Given the description of an element on the screen output the (x, y) to click on. 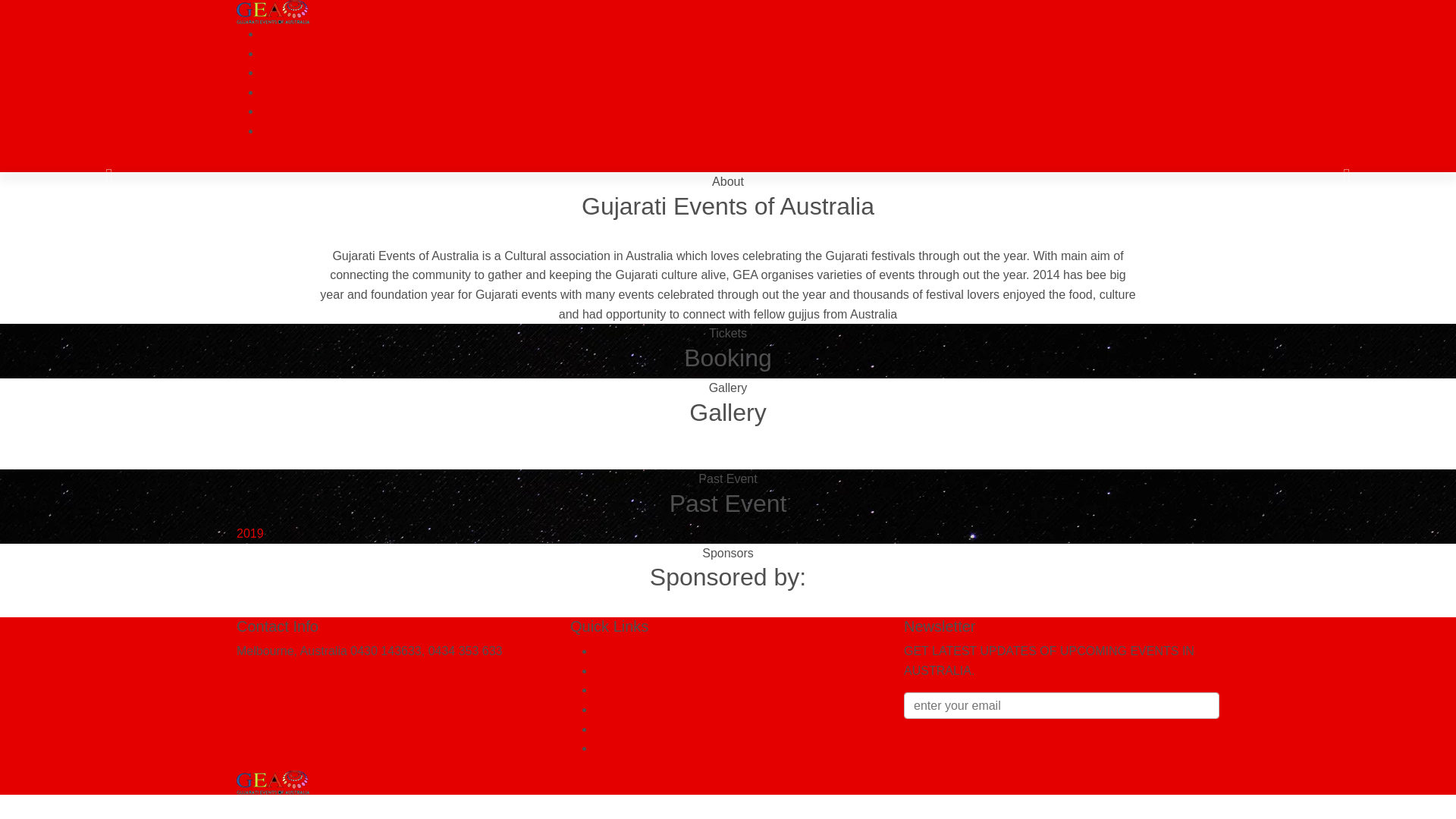
Gallery Element type: text (279, 91)
Past Event Element type: text (623, 728)
Login Element type: text (251, 162)
Contact Us Element type: text (290, 130)
Home Element type: text (276, 33)
About Element type: text (276, 53)
info@gujaratieventsofaustralia.com.au Element type: text (339, 670)
About Element type: text (610, 670)
Booking Element type: text (616, 689)
Booking Element type: text (282, 71)
Gallery Element type: text (613, 708)
Past Event Element type: text (289, 110)
Home Element type: text (610, 650)
2019 Element type: text (251, 533)
Contact Us Element type: text (624, 747)
